Given the description of an element on the screen output the (x, y) to click on. 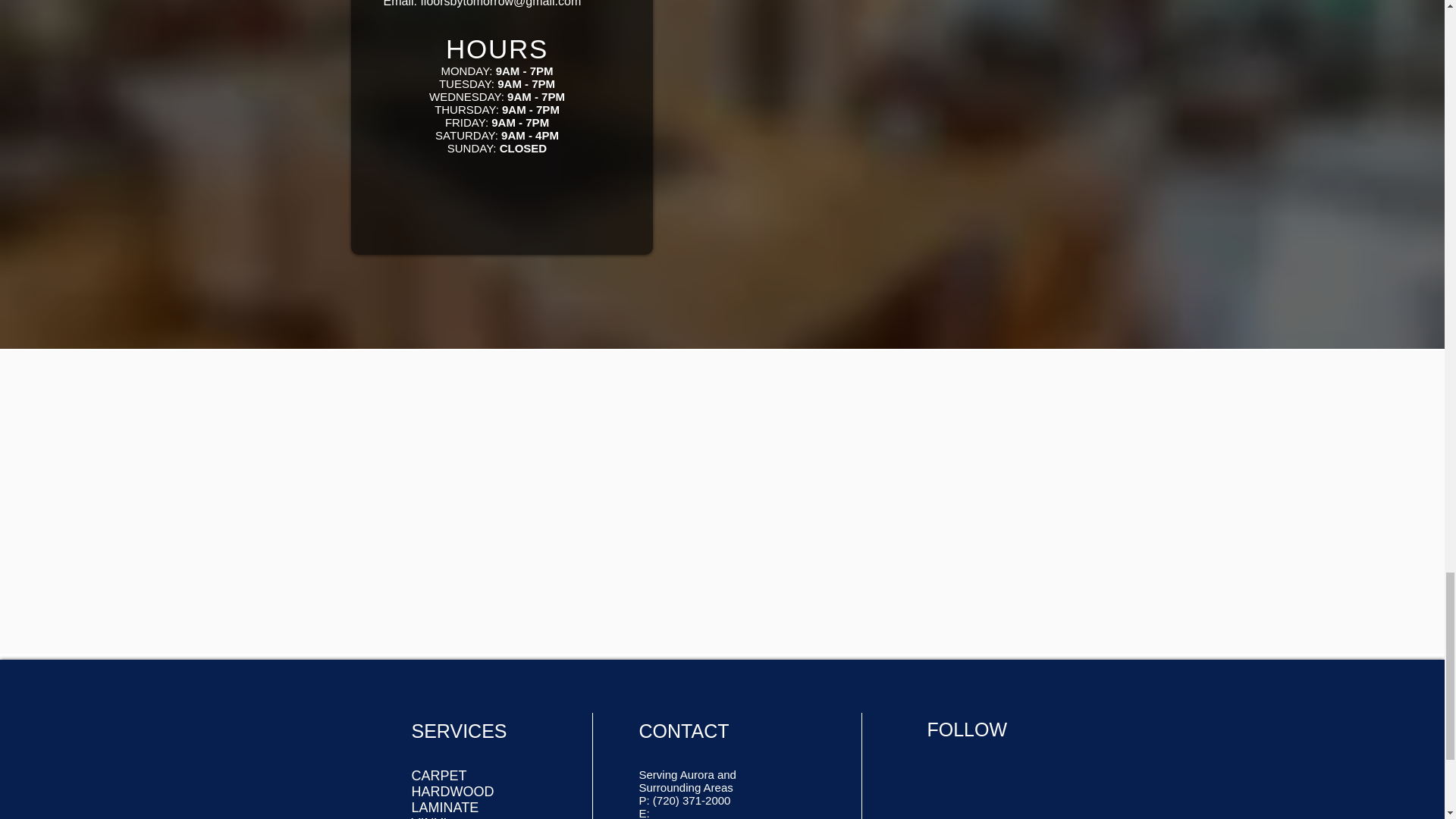
Serving Aurora and (687, 774)
LAMINATE (444, 807)
VINYL (429, 817)
HARDWOOD (451, 791)
Surrounding Areas (685, 787)
CARPET (437, 775)
